Given the description of an element on the screen output the (x, y) to click on. 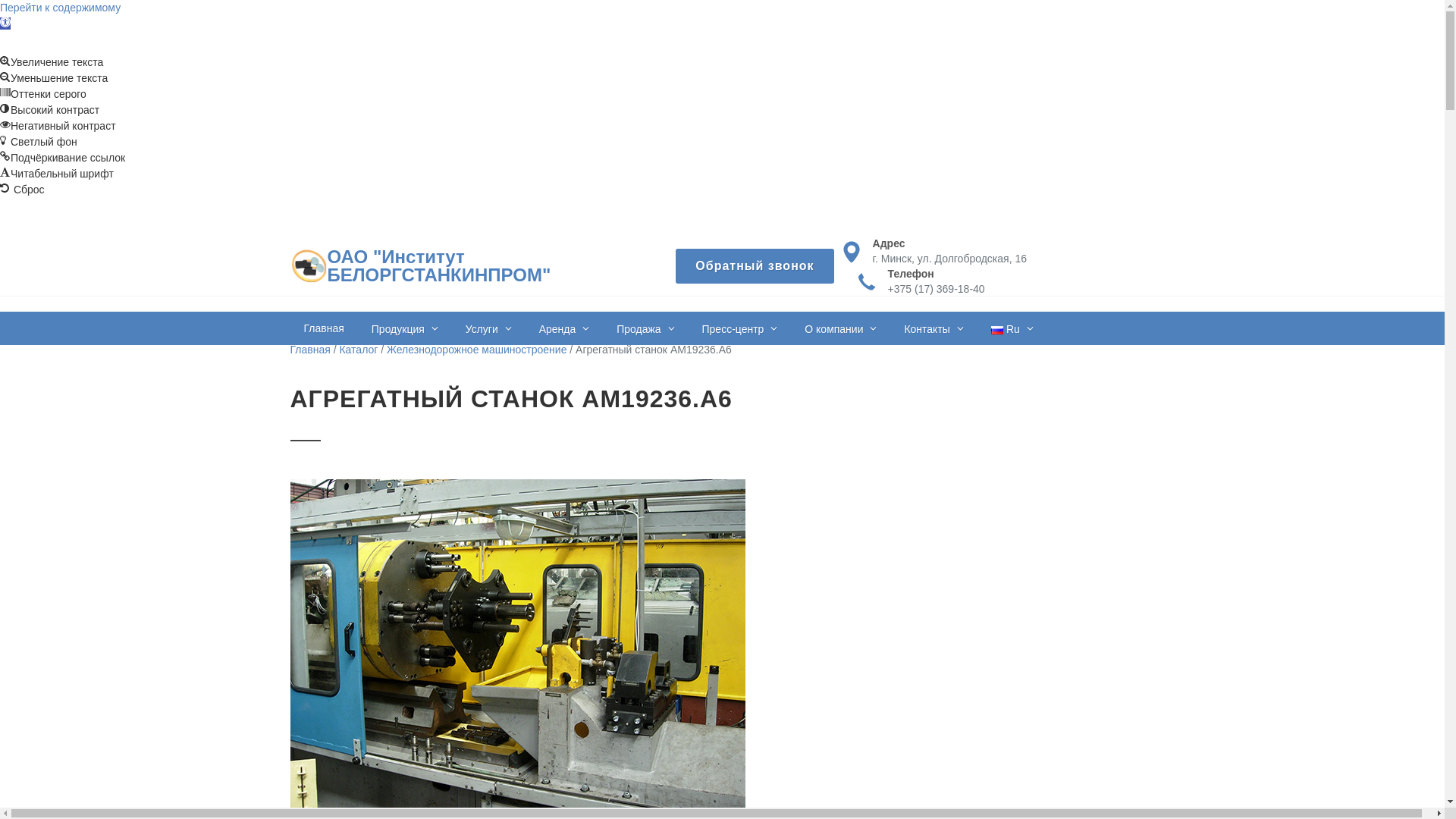
Ru  Element type: text (1012, 327)
